Given the description of an element on the screen output the (x, y) to click on. 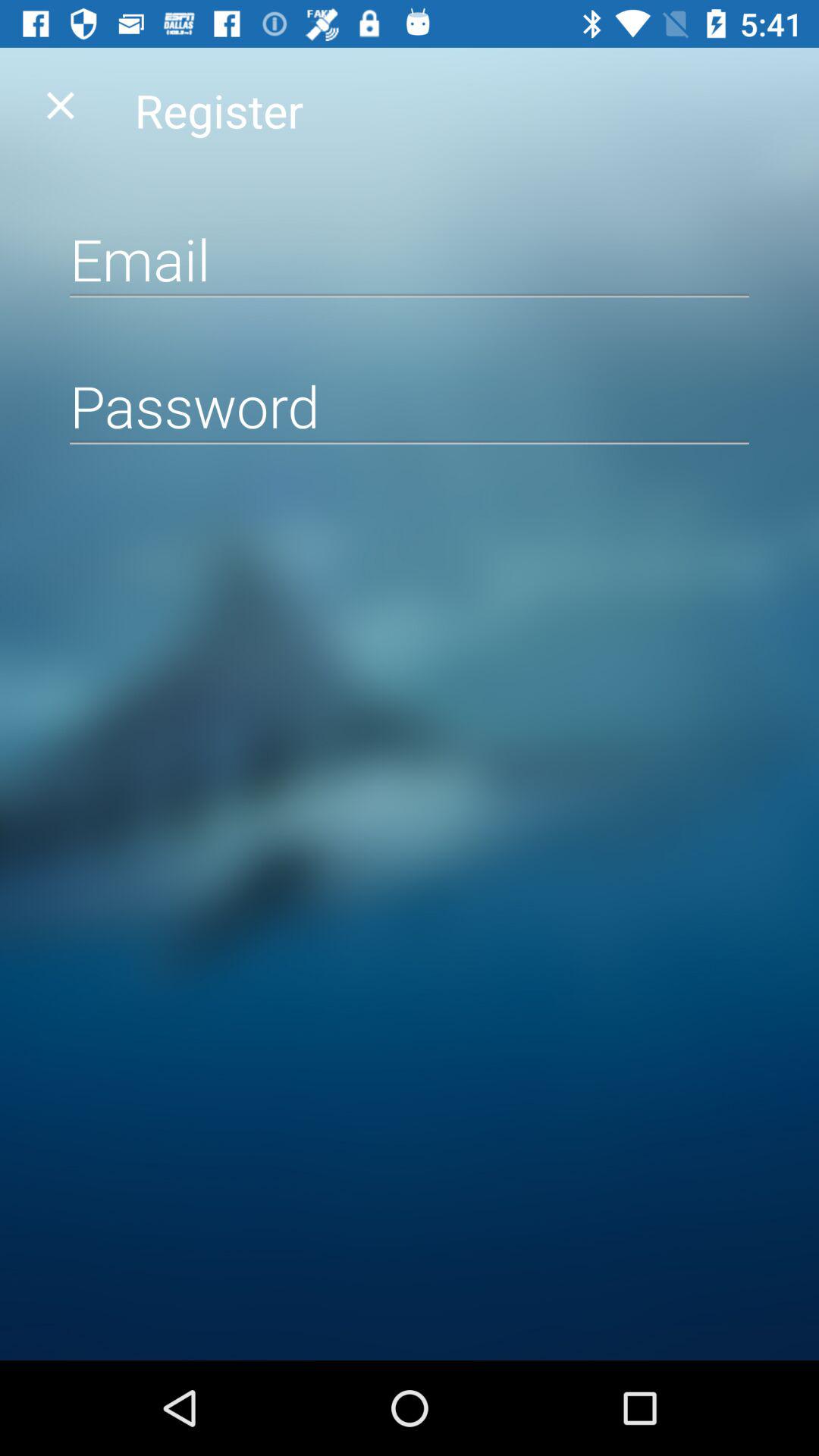
insert password for login (409, 405)
